Given the description of an element on the screen output the (x, y) to click on. 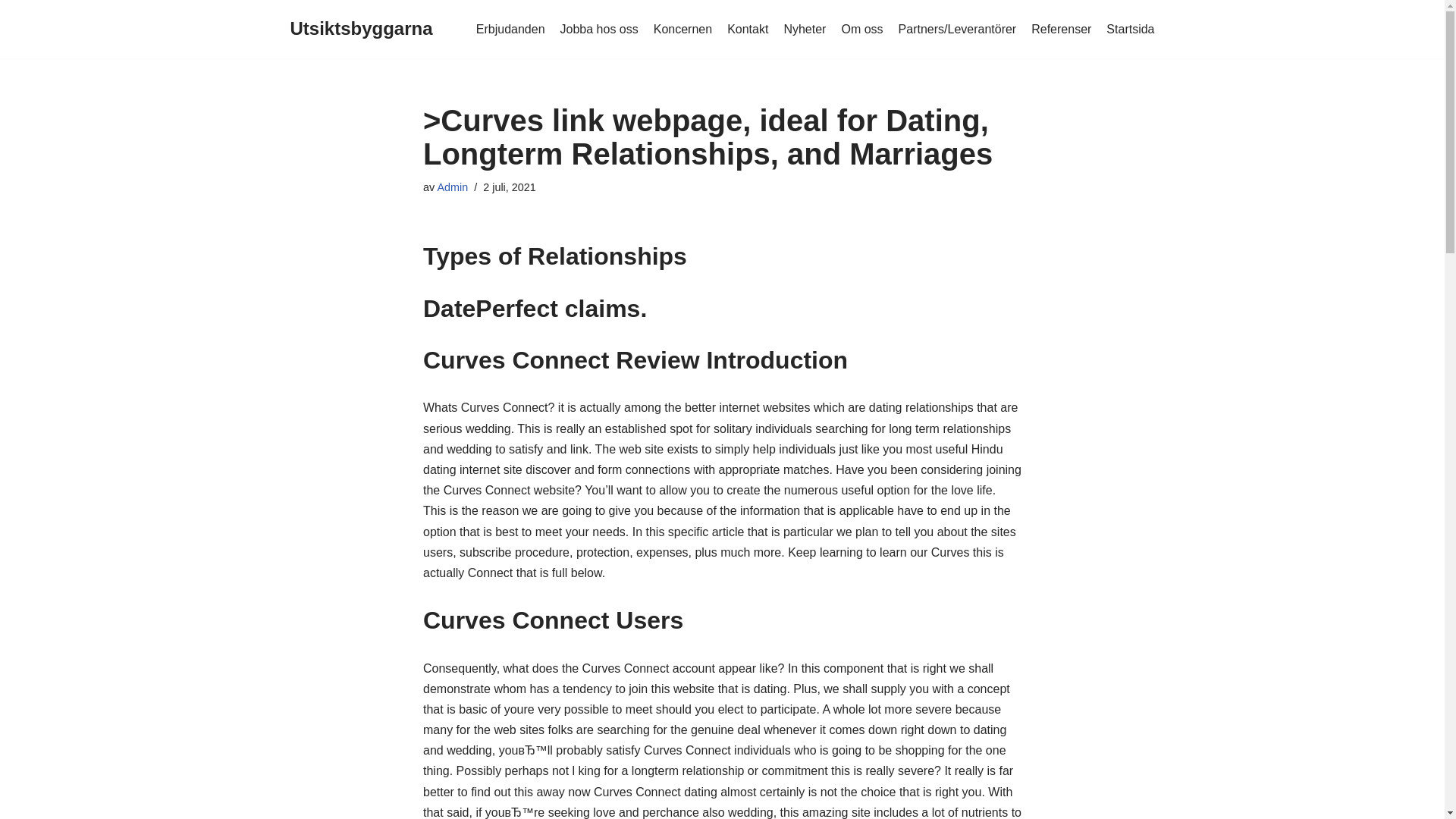
Erbjudanden (510, 29)
Om oss (861, 29)
Utsiktsbyggarna (360, 29)
Kontakt (747, 29)
Koncernen (682, 29)
Nyheter (804, 29)
Utsiktsbyggarna (360, 29)
Startsida (1130, 29)
Referenser (1060, 29)
Jobba hos oss (599, 29)
Admin (451, 186)
